Given the description of an element on the screen output the (x, y) to click on. 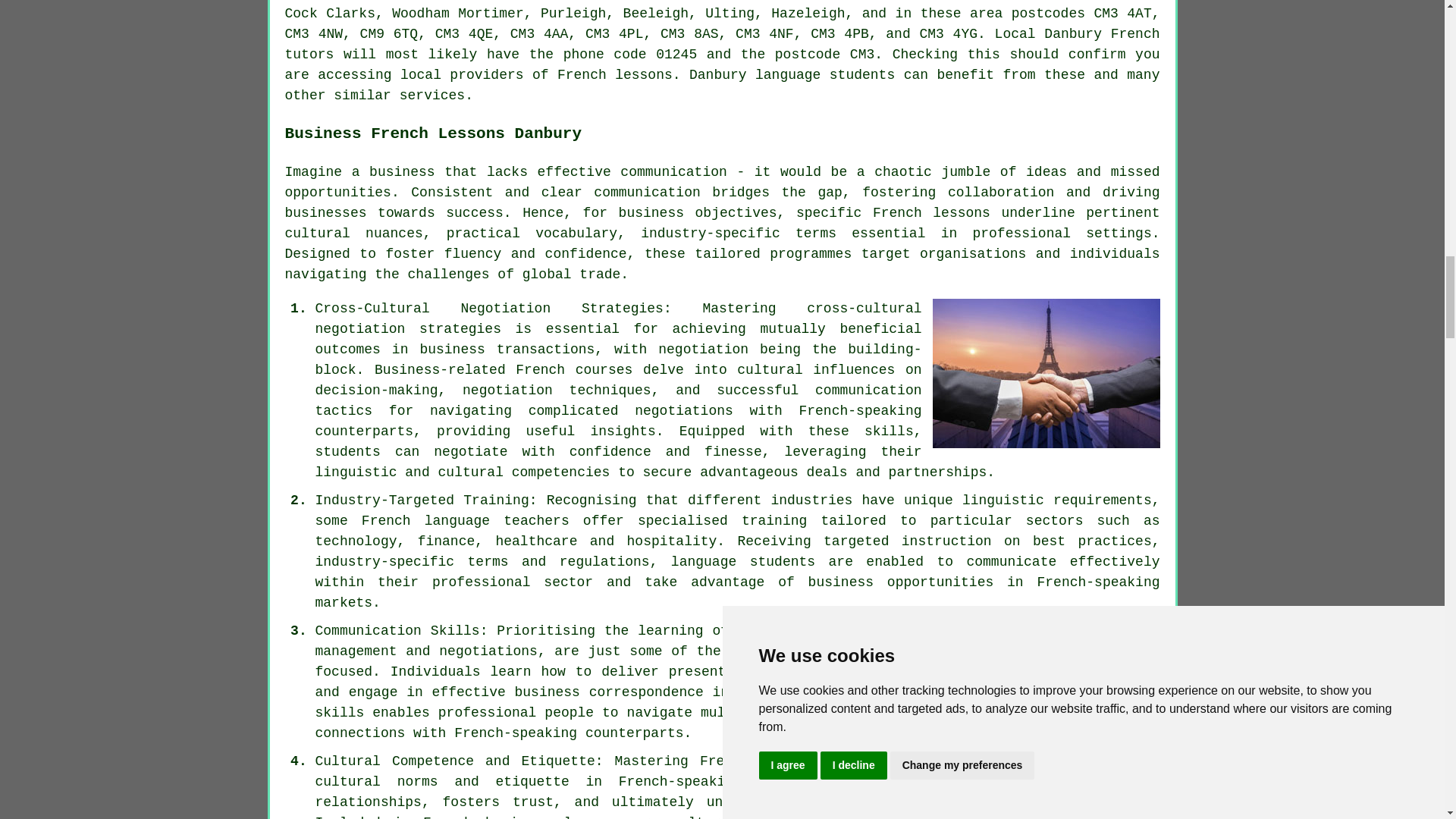
French lessons (614, 74)
French lessons (931, 212)
French tutors (722, 44)
French Business Lessons Danbury (1046, 372)
